Given the description of an element on the screen output the (x, y) to click on. 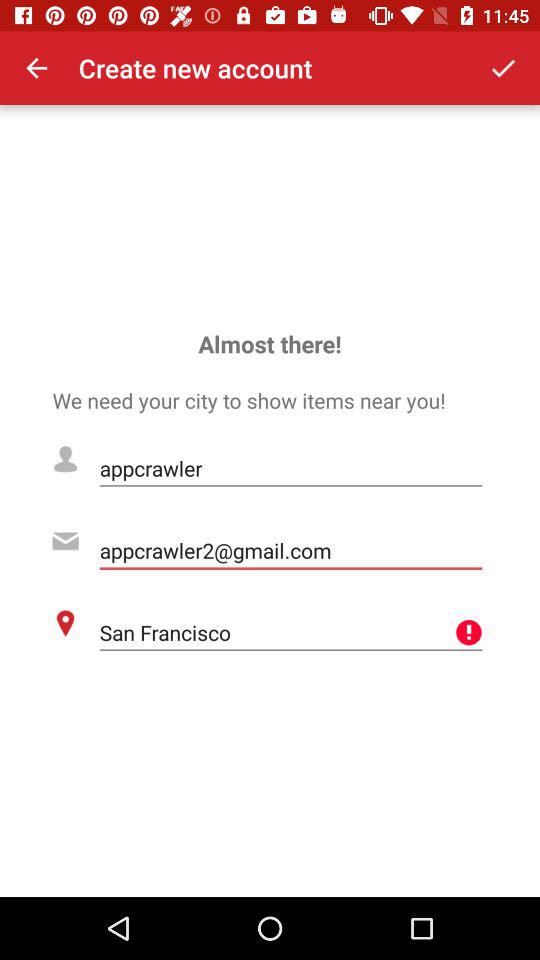
the human icon left to appcrawler (65, 459)
select the location text filed on the web page (291, 632)
